Given the description of an element on the screen output the (x, y) to click on. 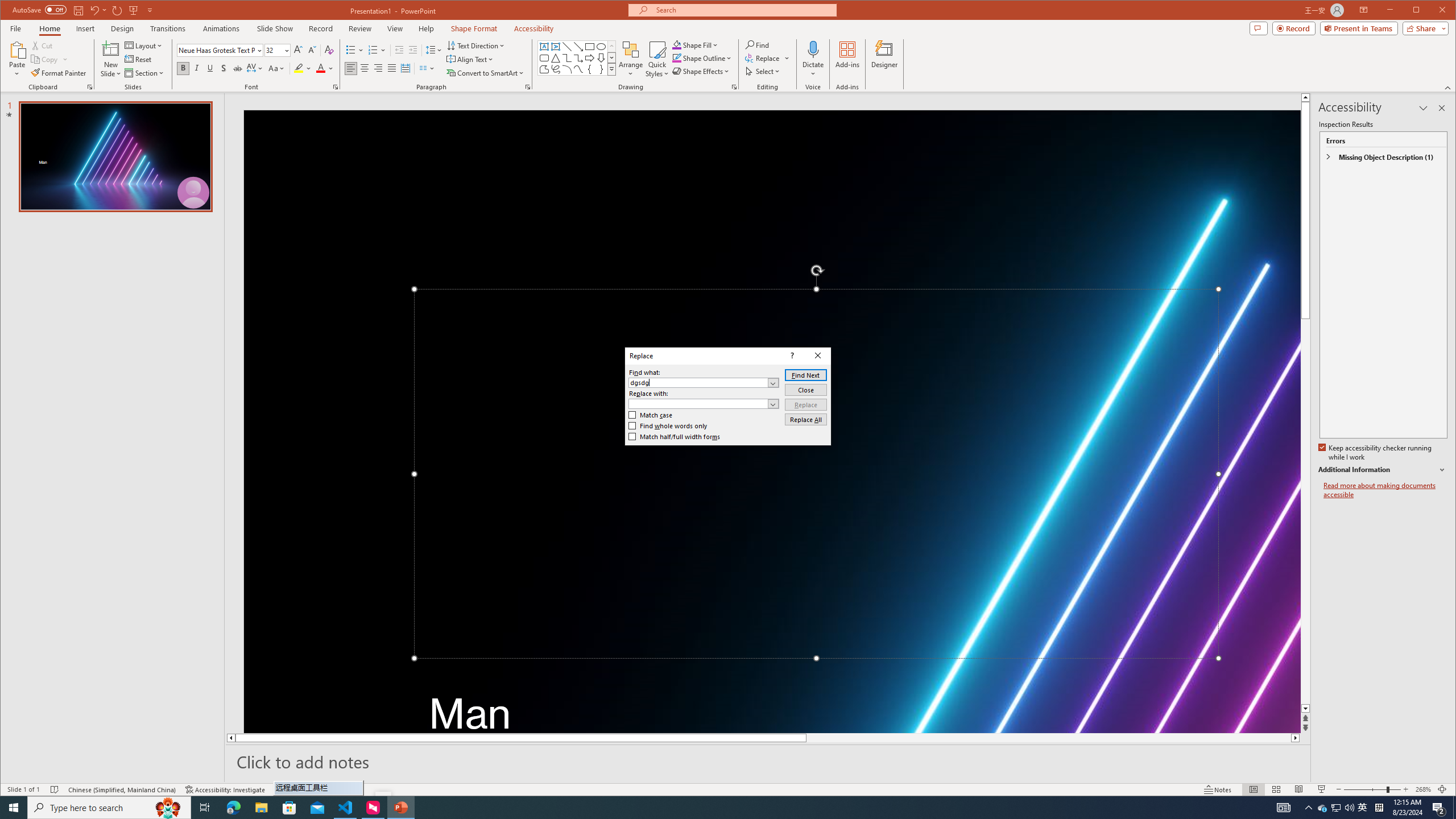
Shape Effects (702, 70)
